Given the description of an element on the screen output the (x, y) to click on. 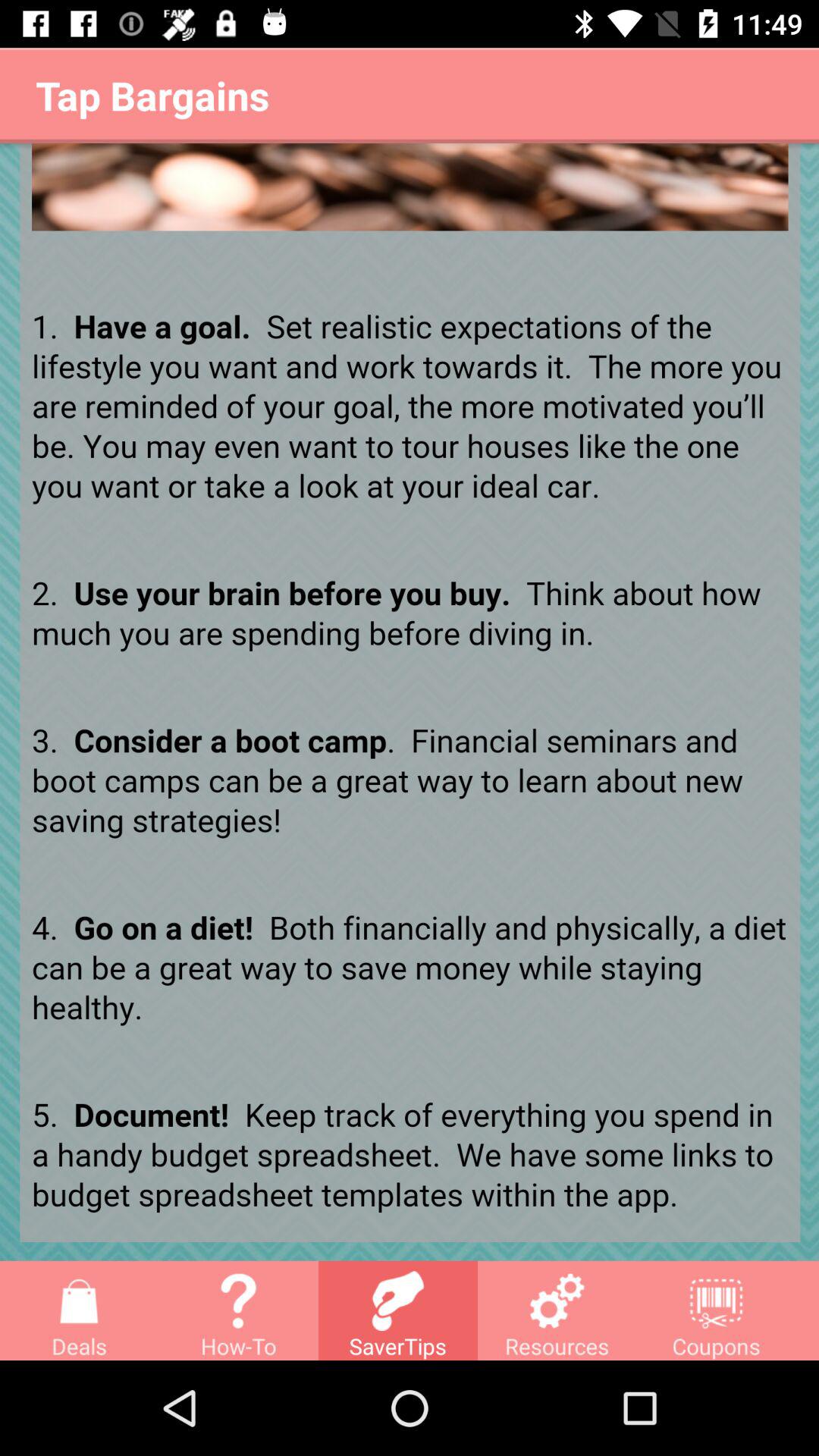
select the item below the tap bargains app (409, 701)
